Given the description of an element on the screen output the (x, y) to click on. 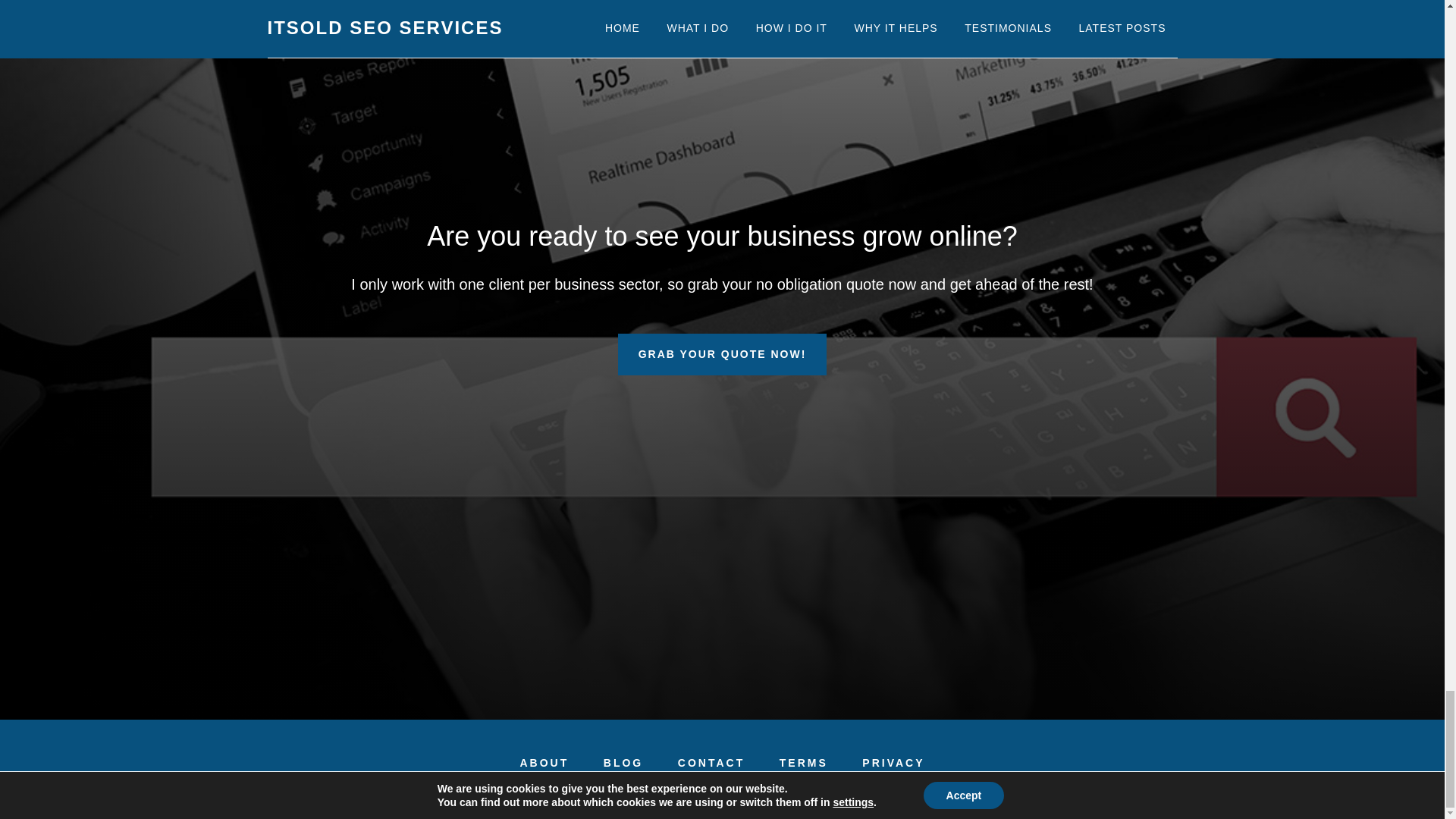
ABOUT (544, 762)
GRAB YOUR QUOTE NOW! (722, 354)
BLOG (623, 762)
PRIVACY (892, 762)
ITSOLD SEO SERVICES. (781, 791)
CONTACT (711, 762)
TERMS (803, 762)
Apply to join my exclusive list of clients today. (722, 354)
